Given the description of an element on the screen output the (x, y) to click on. 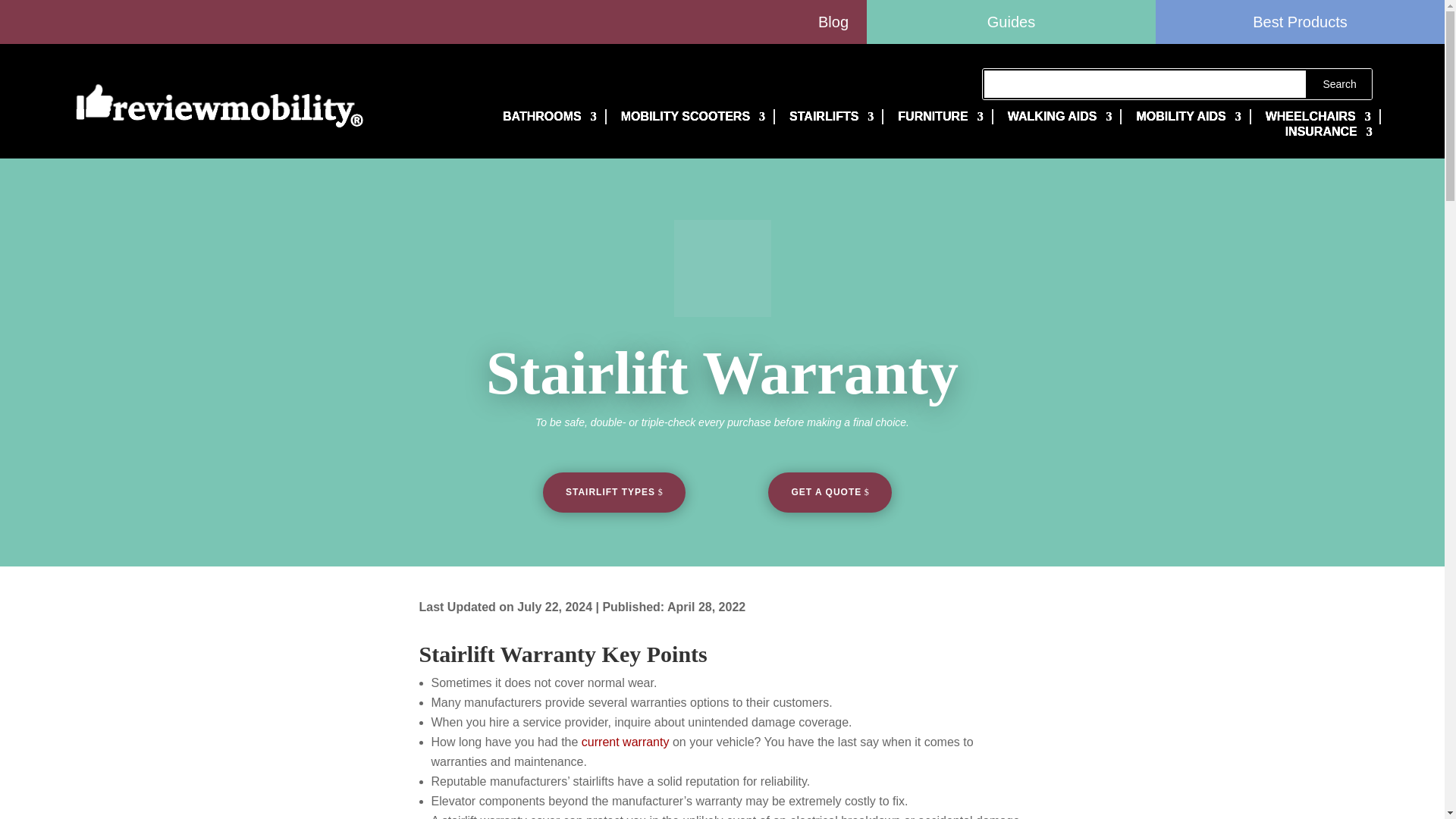
Blog (433, 22)
Guides (1011, 22)
Search (1339, 83)
Search (1339, 83)
MOBILITY SCOOTERS (689, 116)
BATHROOMS (546, 116)
Search (1339, 83)
